Given the description of an element on the screen output the (x, y) to click on. 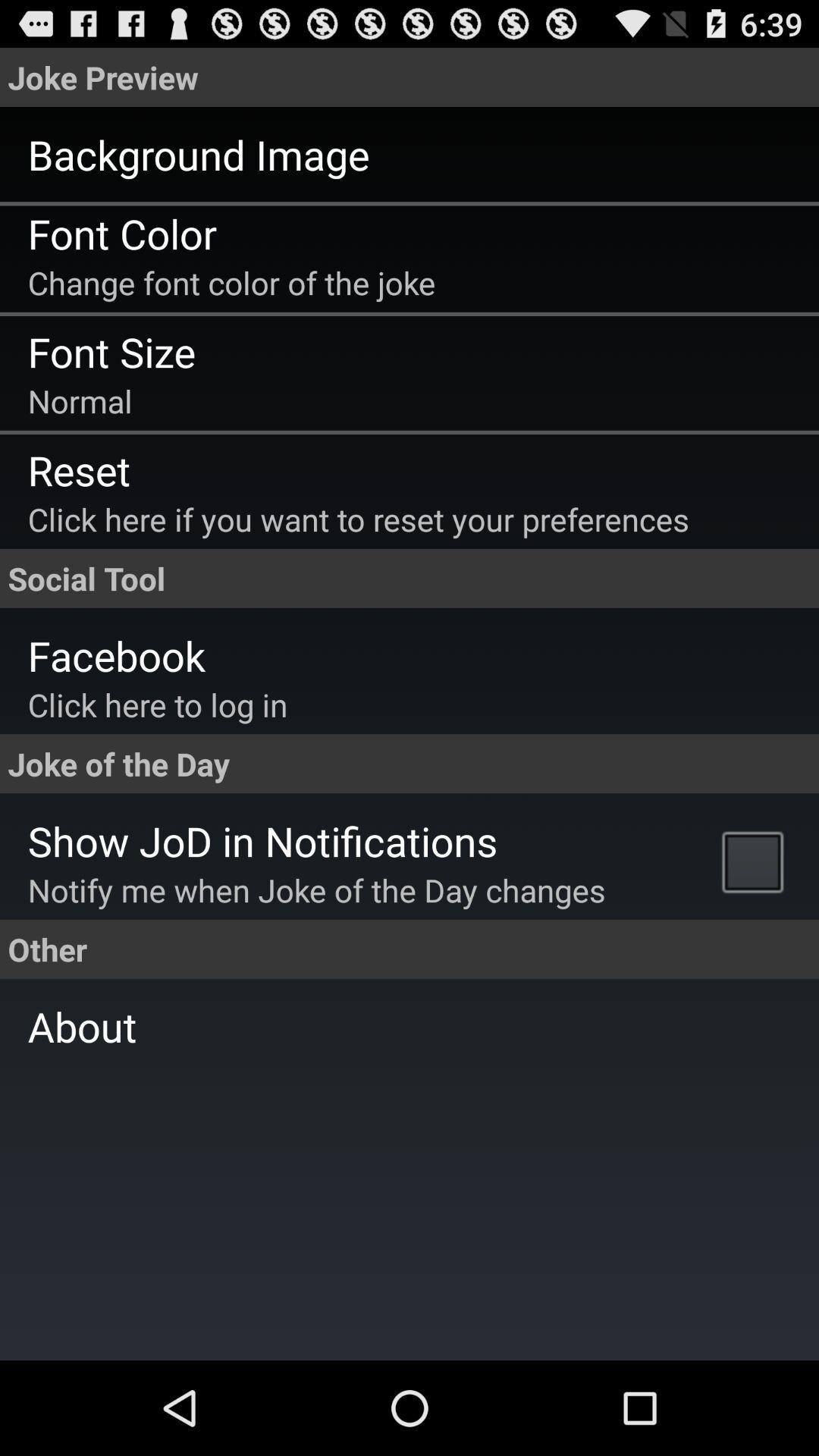
turn off the checkbox on the right (756, 860)
